Given the description of an element on the screen output the (x, y) to click on. 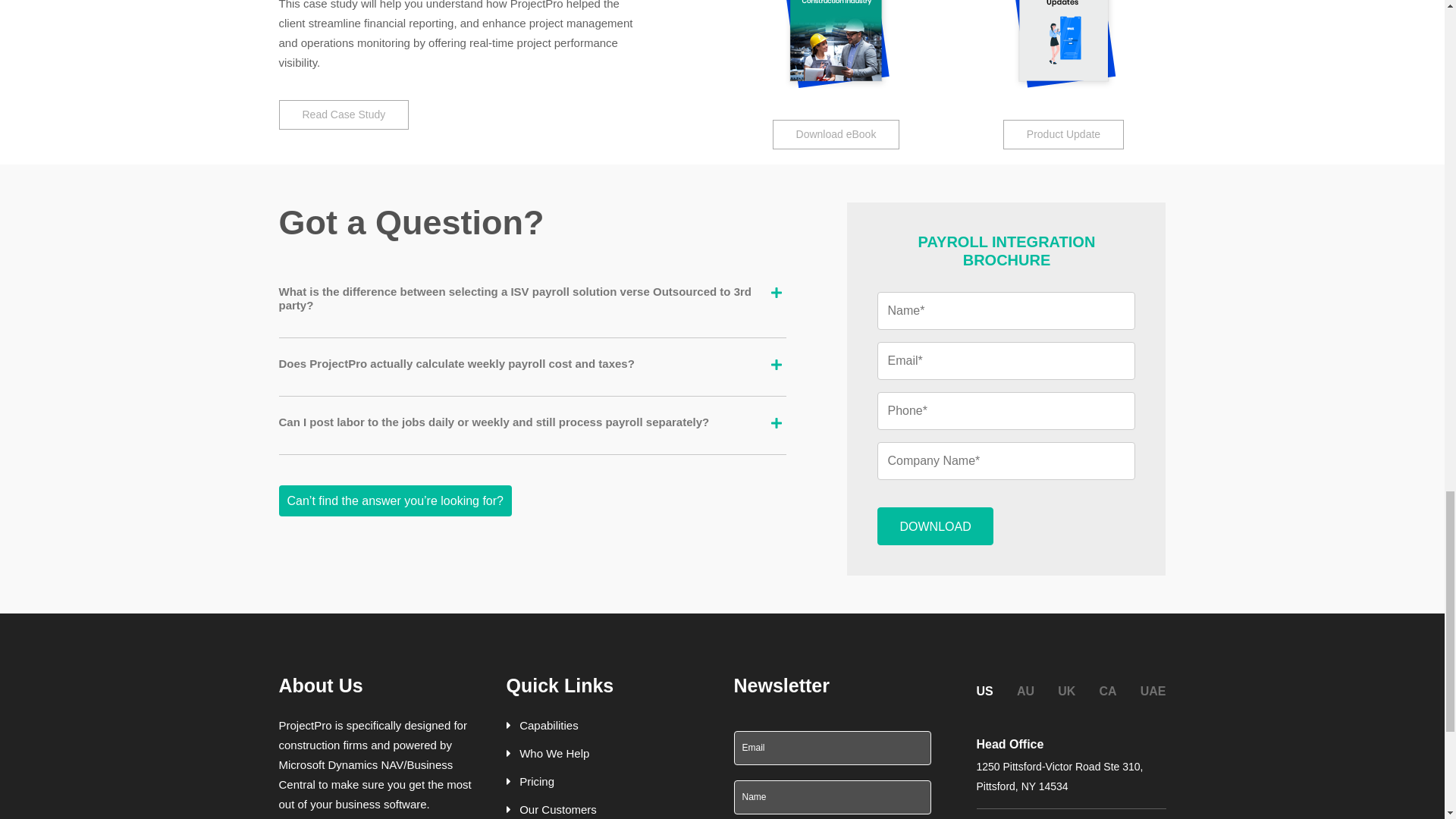
Download (934, 525)
